Given the description of an element on the screen output the (x, y) to click on. 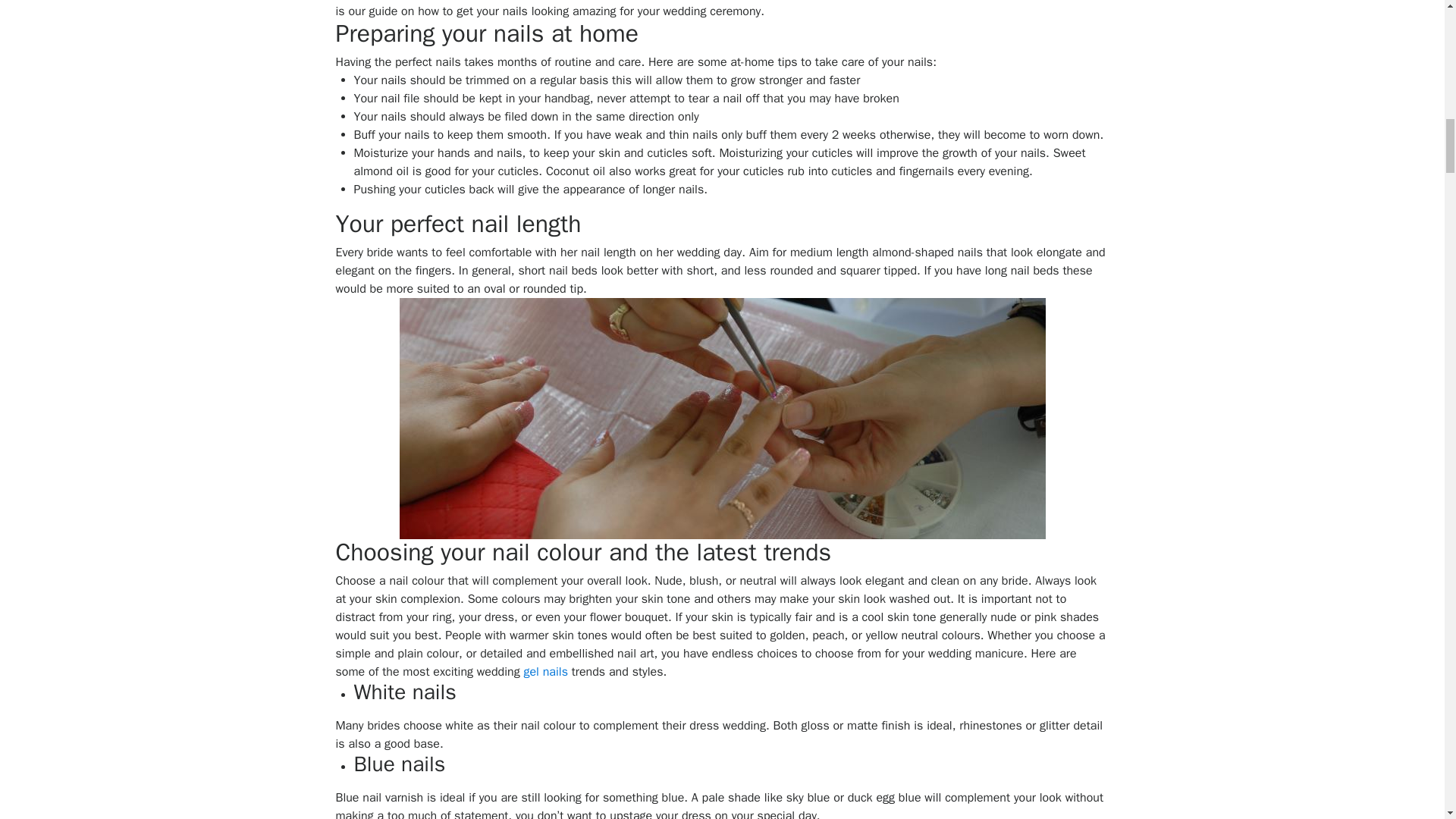
gel nails (544, 671)
